Given the description of an element on the screen output the (x, y) to click on. 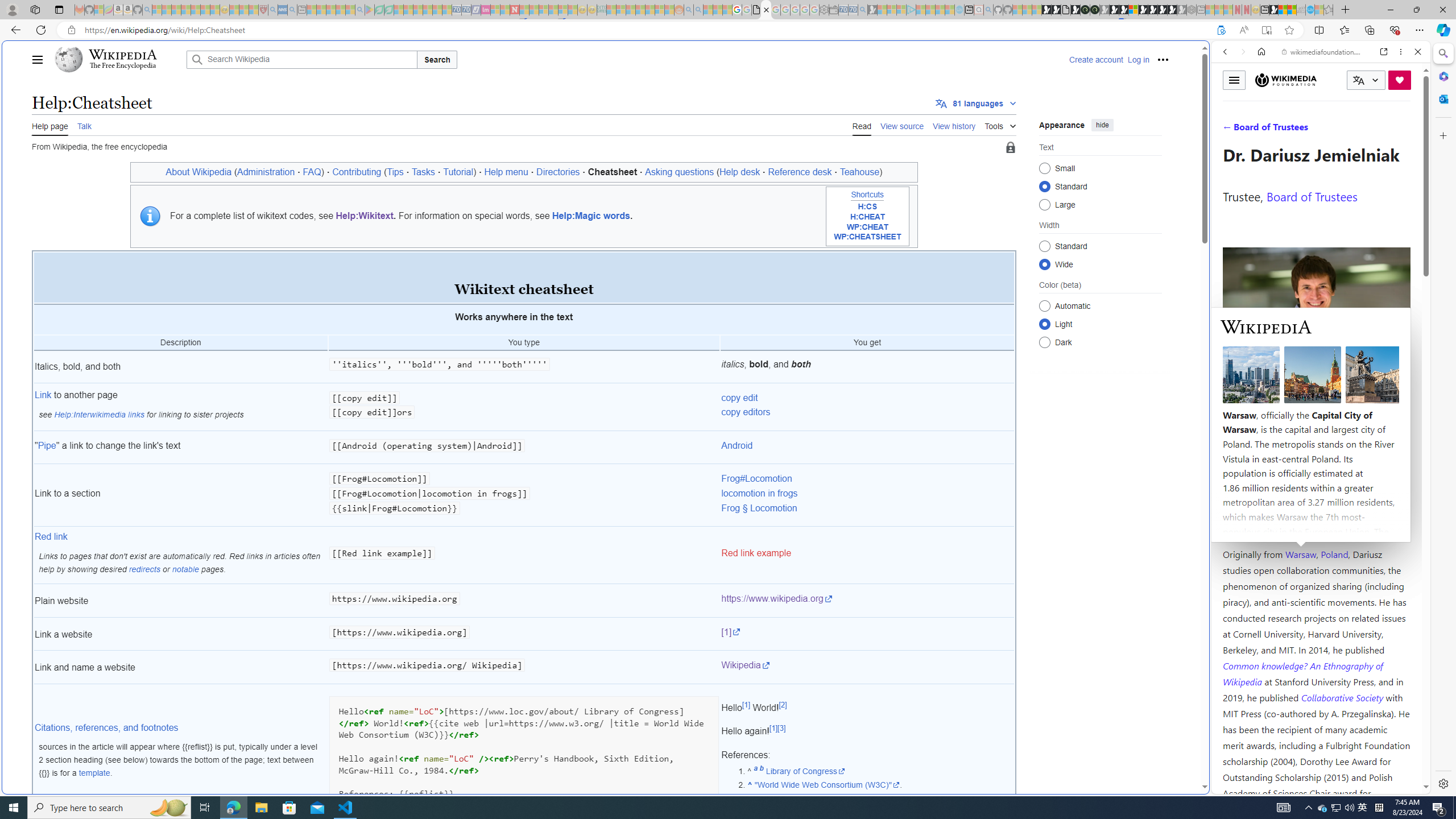
^ "World Wide Web Consortium (W3C)". (879, 784)
Help:Interwikimedia links (98, 414)
View history (954, 124)
WP:CHEATSHEET (867, 236)
Link (43, 394)
